Given the description of an element on the screen output the (x, y) to click on. 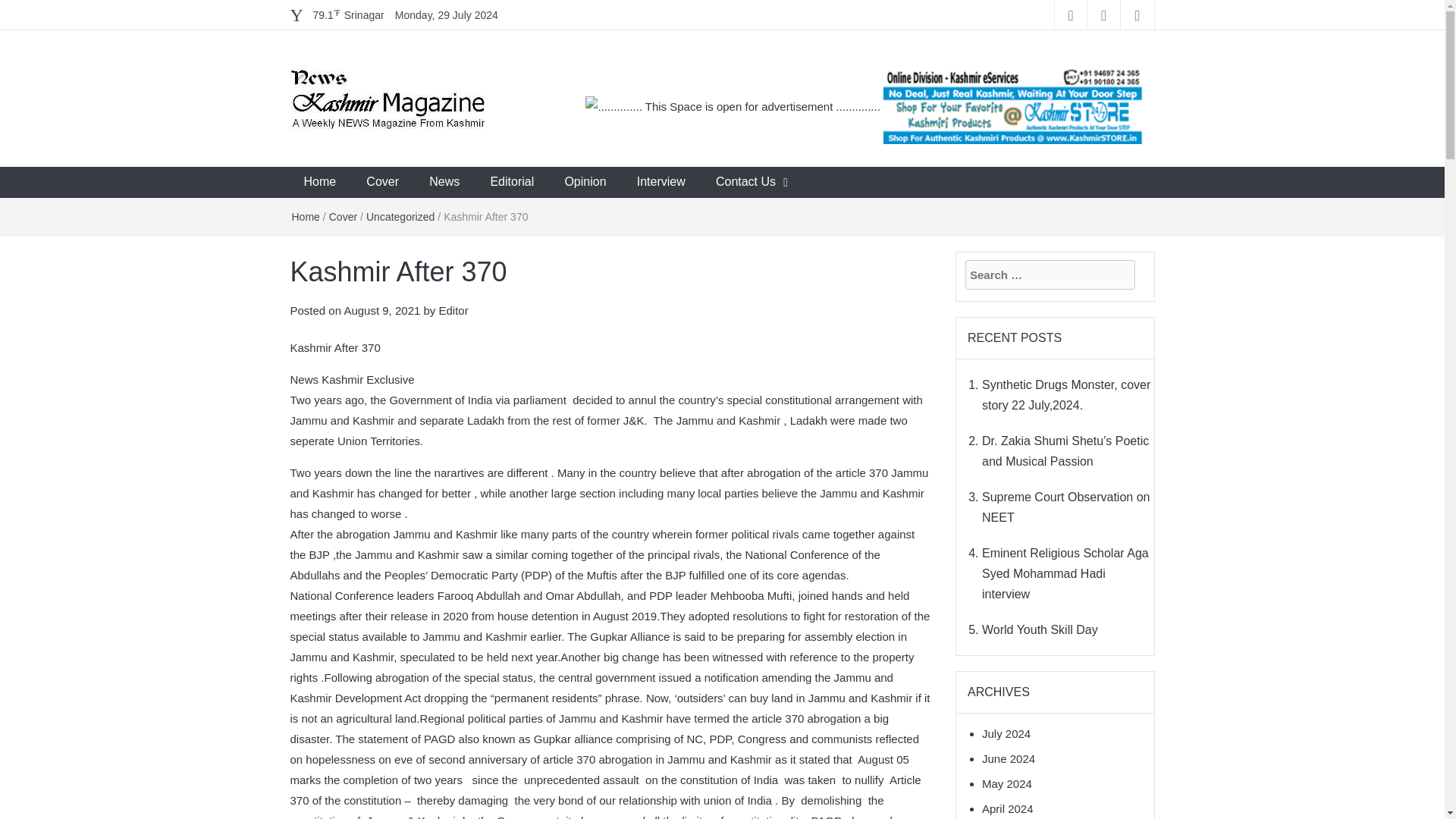
Uncategorized (399, 216)
262x220 Ads (1012, 97)
August 9, 2021 (381, 309)
Cover (342, 216)
Clouds (348, 14)
Contact Us (745, 182)
Opinion (585, 182)
Home (304, 216)
News (443, 182)
News Kashmir Magazine (431, 169)
Home (319, 182)
Interview (660, 182)
Editor (453, 309)
Editorial (511, 182)
